Given the description of an element on the screen output the (x, y) to click on. 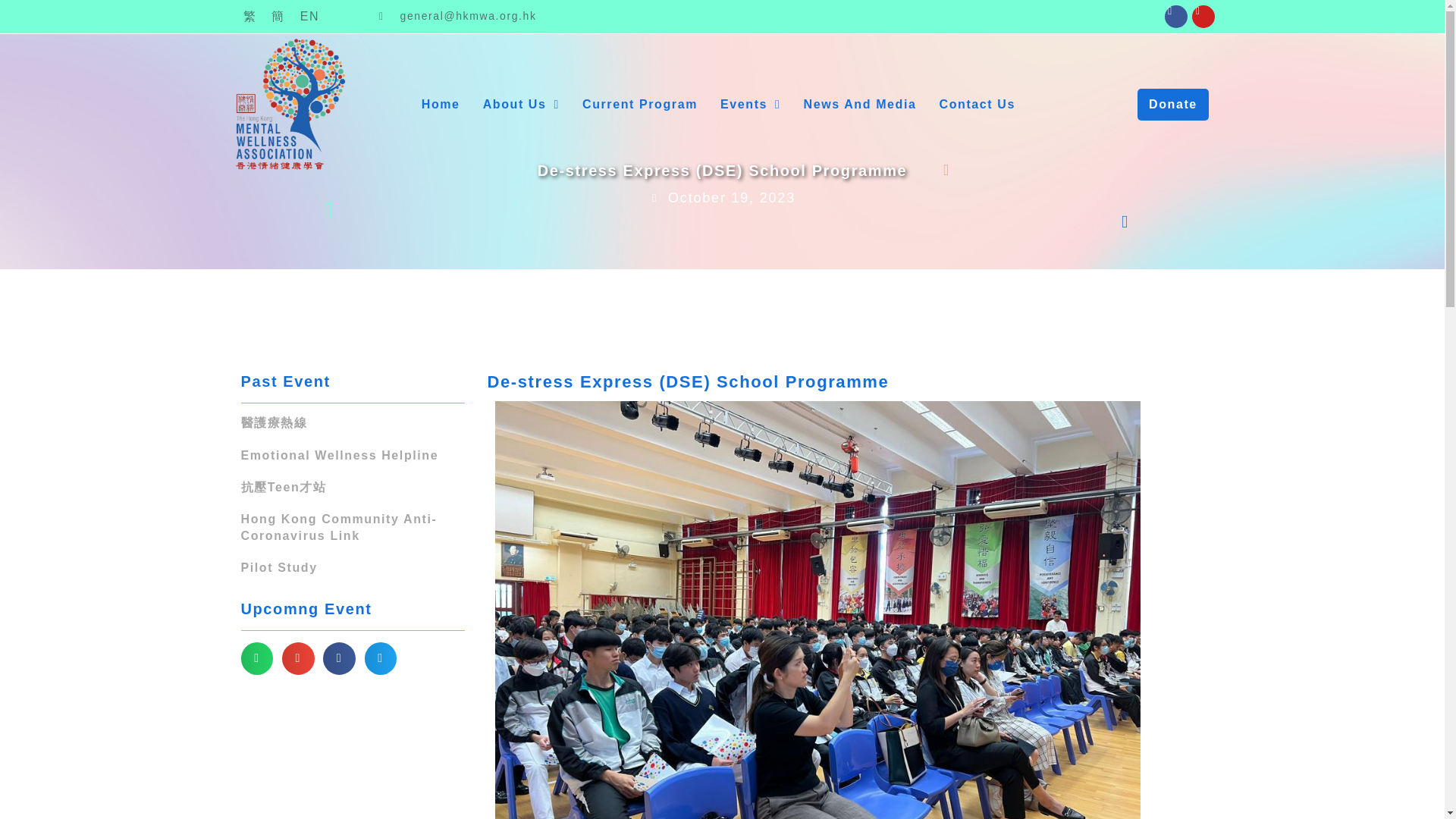
Hong Kong Community Anti-Coronavirus Link (339, 527)
About Us (521, 104)
Home (440, 104)
Emotional Wellness Helpline (340, 454)
Donate (1172, 104)
News And Media (860, 104)
October 19, 2023 (721, 198)
Current Program (639, 104)
Contact Us (976, 104)
EN (309, 16)
